Given the description of an element on the screen output the (x, y) to click on. 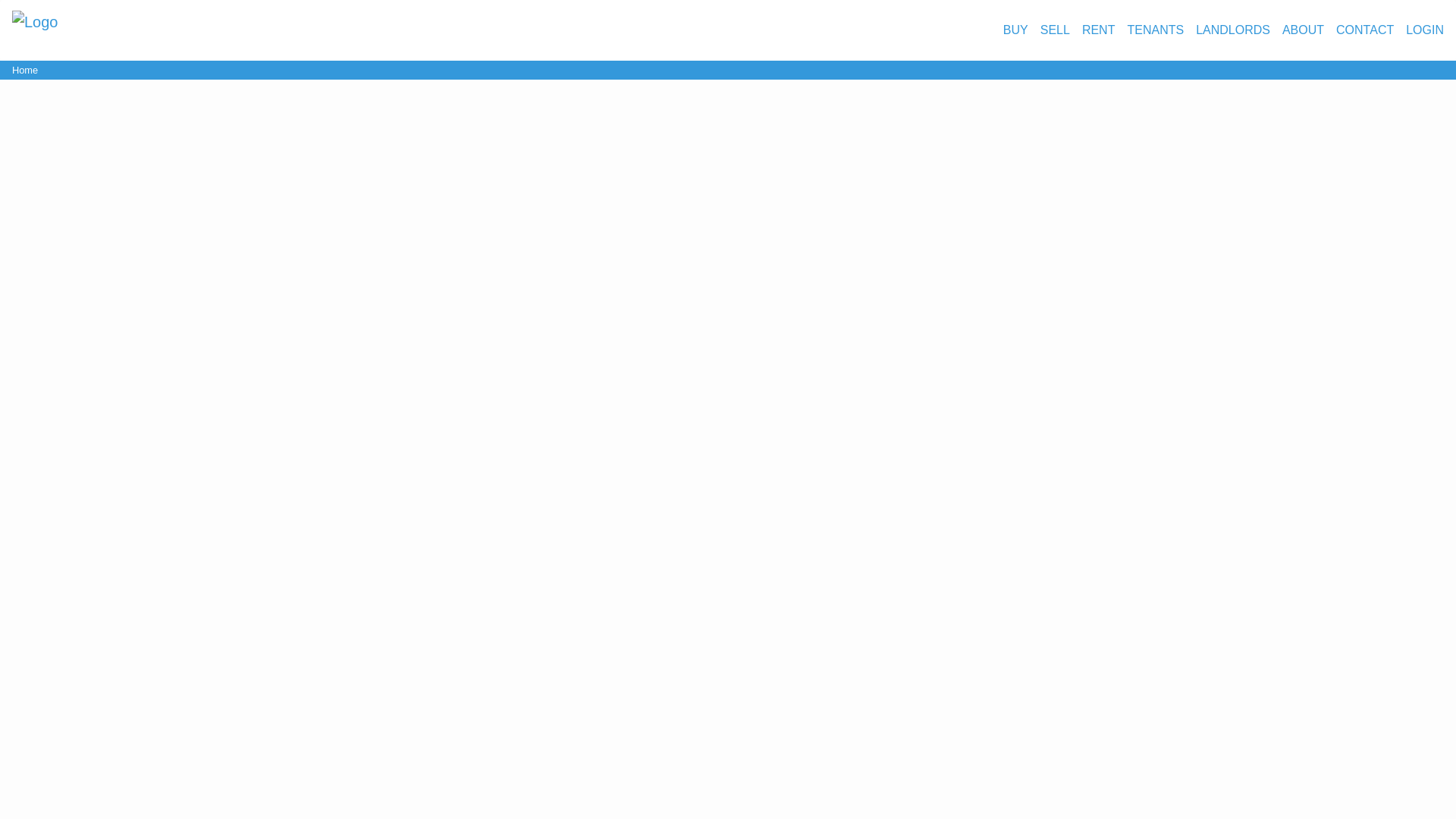
LANDLORDS (1232, 29)
Home (24, 70)
CONTACT (1364, 29)
TENANTS (1154, 29)
